Given the description of an element on the screen output the (x, y) to click on. 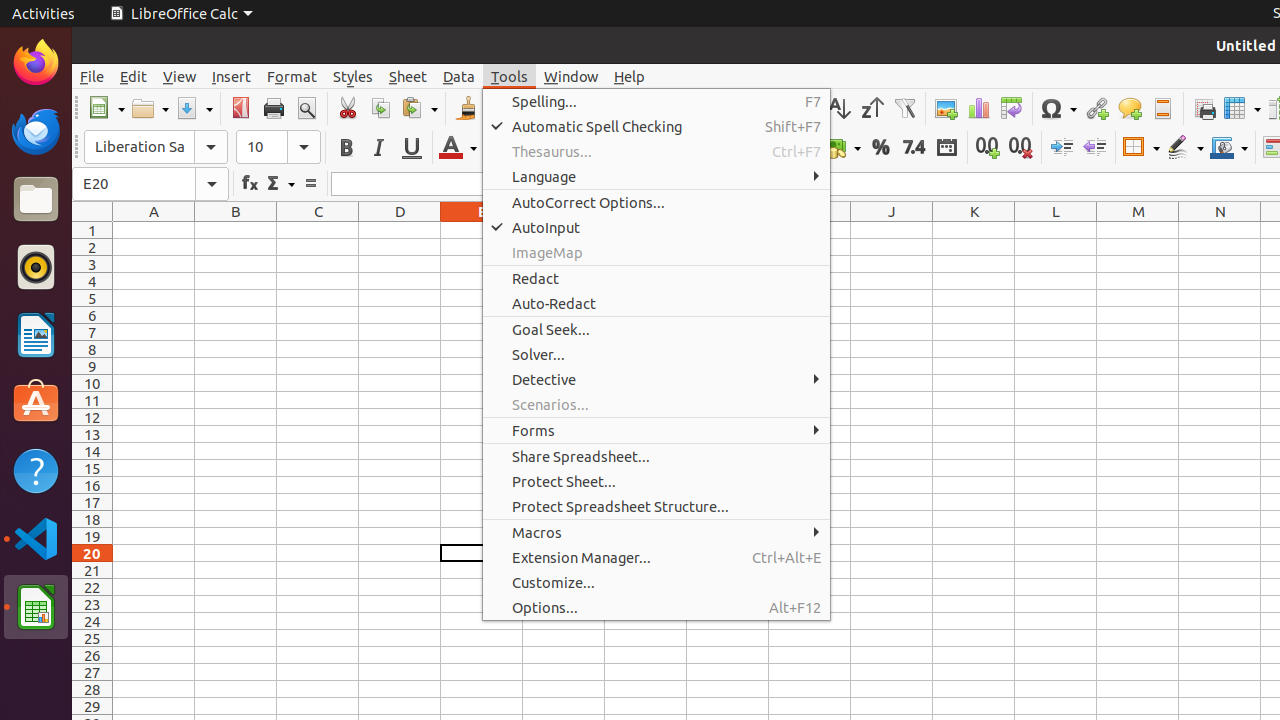
Clone Element type: push-button (465, 108)
Visual Studio Code Element type: push-button (36, 538)
Auto-Redact Element type: menu-item (656, 303)
M1 Element type: table-cell (1138, 230)
Copy Element type: push-button (380, 108)
